Given the description of an element on the screen output the (x, y) to click on. 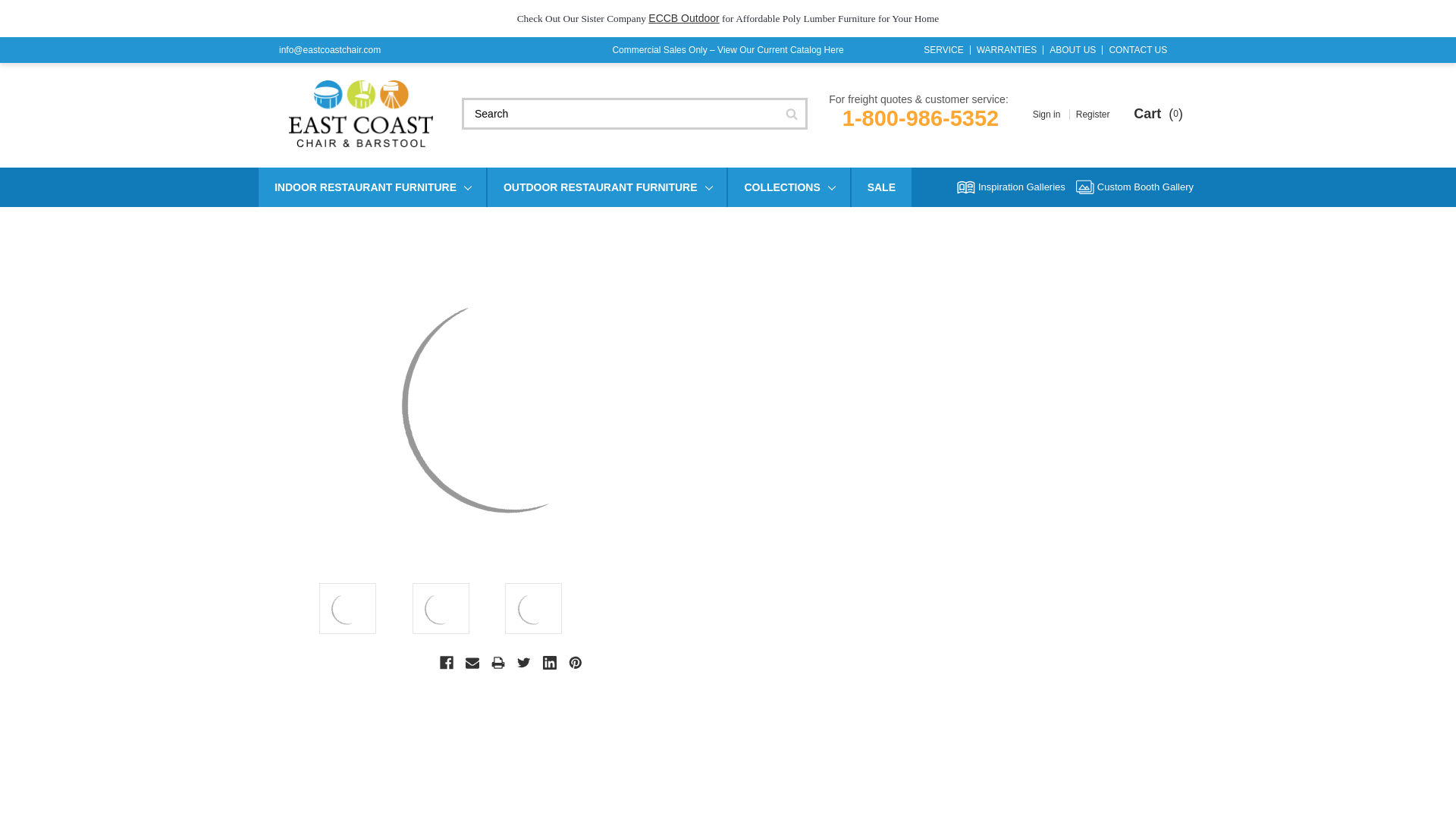
OUTDOOR RESTAURANT FURNITURE (606, 187)
WARRANTIES (1007, 49)
CONTACT US (1137, 49)
Register (1093, 113)
East Coast Chair and Barstool (360, 113)
ECCB Outdoor (683, 18)
SERVICE (943, 49)
Sign in (1048, 113)
ABOUT US (1072, 49)
View Our Current Catalog Here (780, 50)
